Given the description of an element on the screen output the (x, y) to click on. 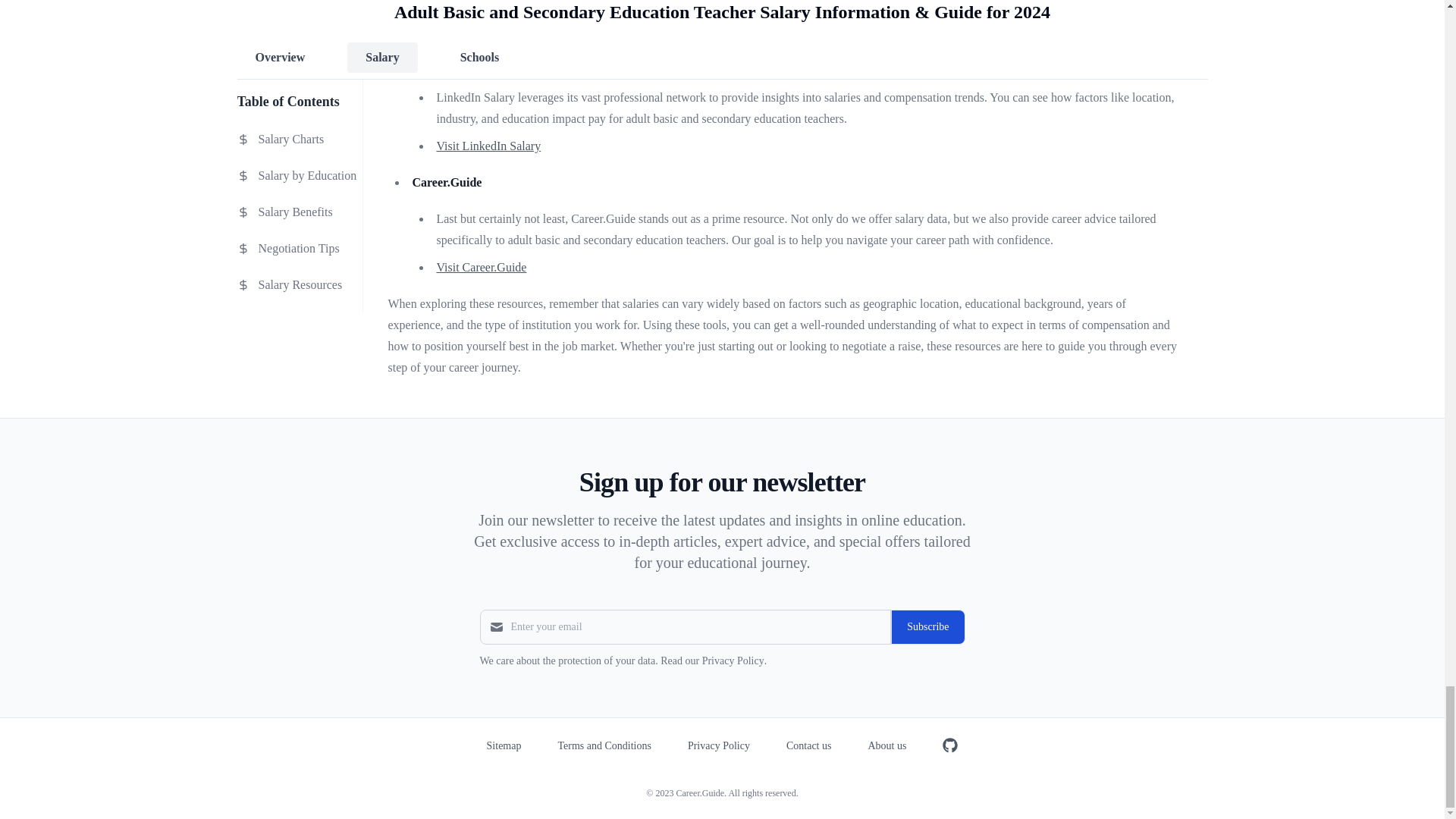
Visit LinkedIn Salary (487, 145)
Privacy Policy (718, 745)
Sitemap (503, 745)
About us (886, 745)
Terms and Conditions (603, 745)
Visit Career.Guide (480, 267)
Read our Privacy Policy (711, 660)
Subscribe (927, 626)
Contact us (808, 745)
Visit Salary.com (475, 24)
